Given the description of an element on the screen output the (x, y) to click on. 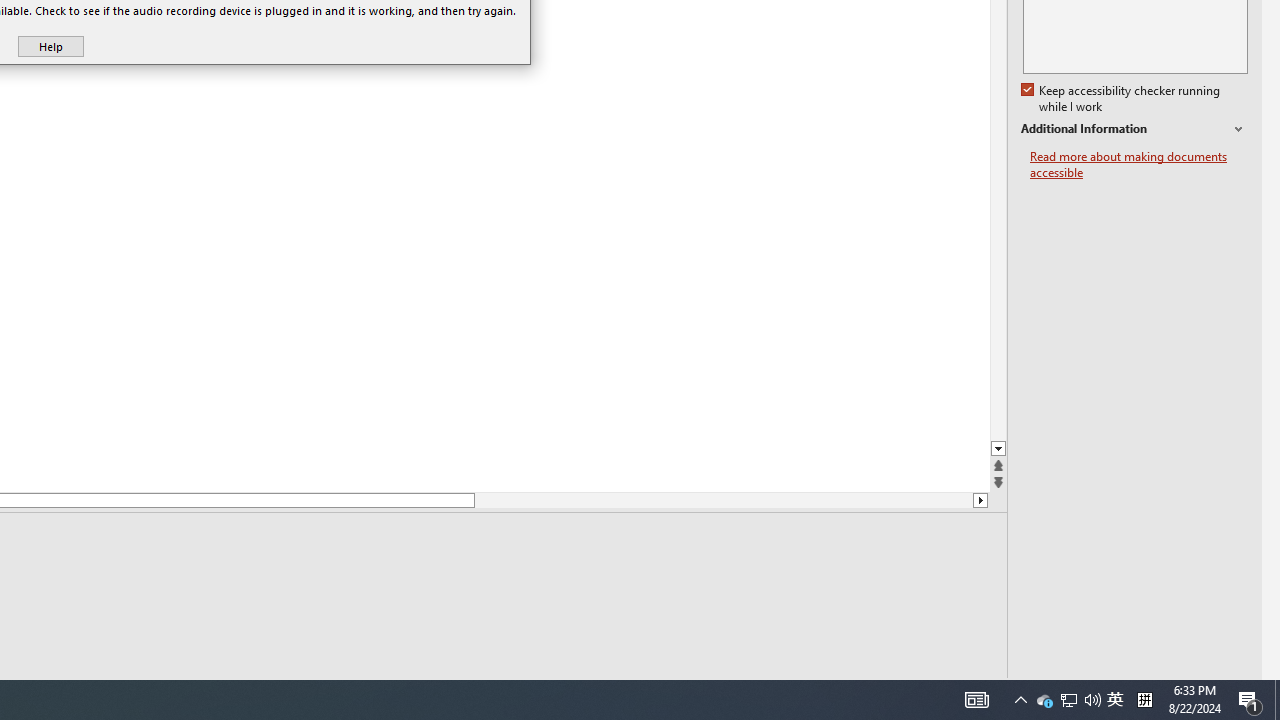
Additional Information (1134, 129)
Menu On (892, 691)
User Promoted Notification Area (1068, 699)
Show desktop (1277, 699)
Slide Show Next On (924, 691)
Read more about making documents accessible (1139, 164)
Slide Show Previous On (860, 691)
Page down (723, 500)
